Given the description of an element on the screen output the (x, y) to click on. 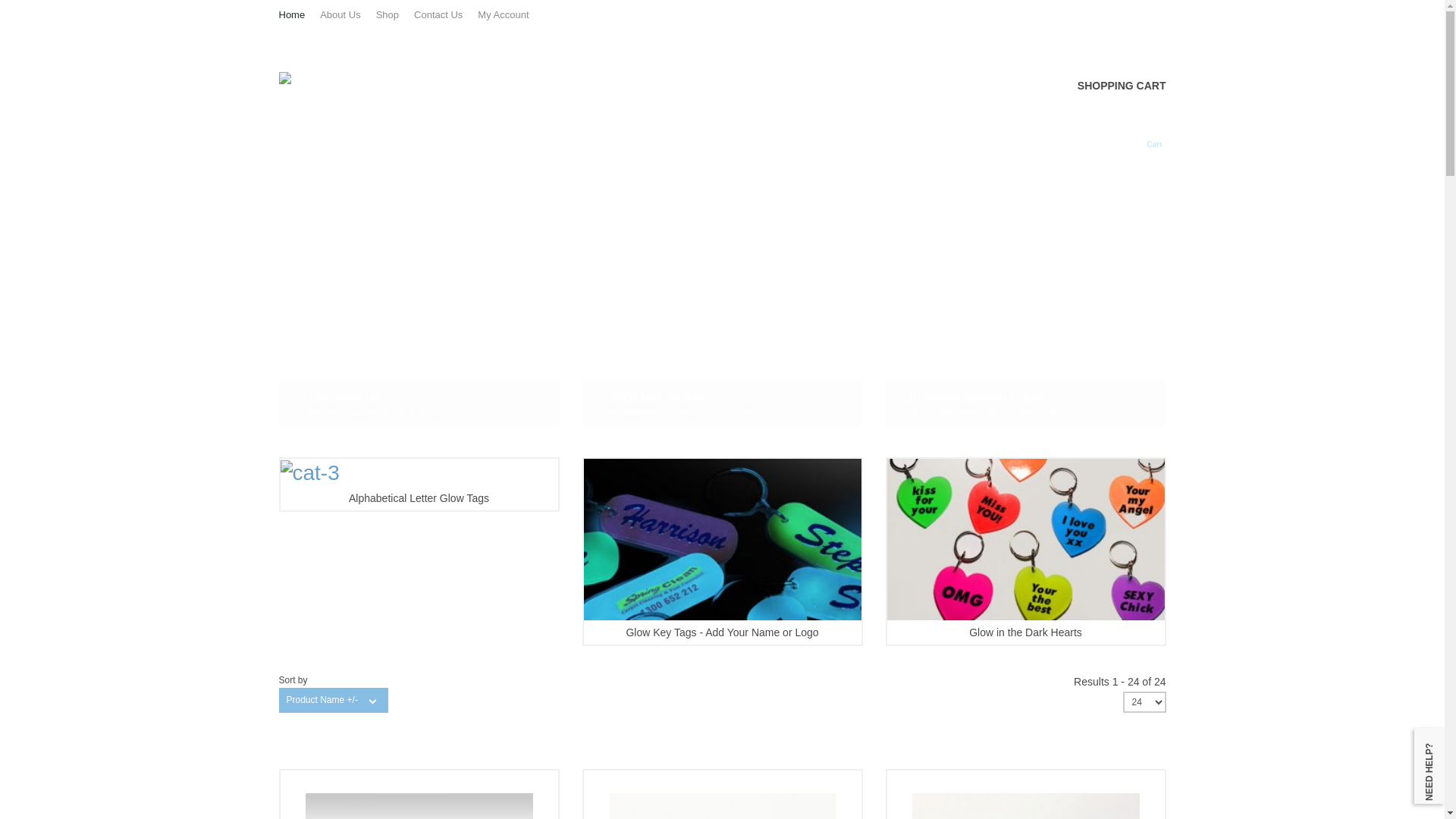
Contact Us Element type: text (445, 15)
My Account Element type: text (510, 15)
Glow Key Tags - Add Your Name or Logo Element type: text (722, 550)
Shop Element type: text (395, 15)
  Cart empty Element type: text (1146, 137)
Alphabetical Letter Glow Tags Element type: text (419, 483)
About Us Element type: text (347, 15)
Product Name +/- Element type: text (321, 700)
Glow in the Dark Hearts Element type: text (1025, 550)
Home Element type: text (299, 15)
